Given the description of an element on the screen output the (x, y) to click on. 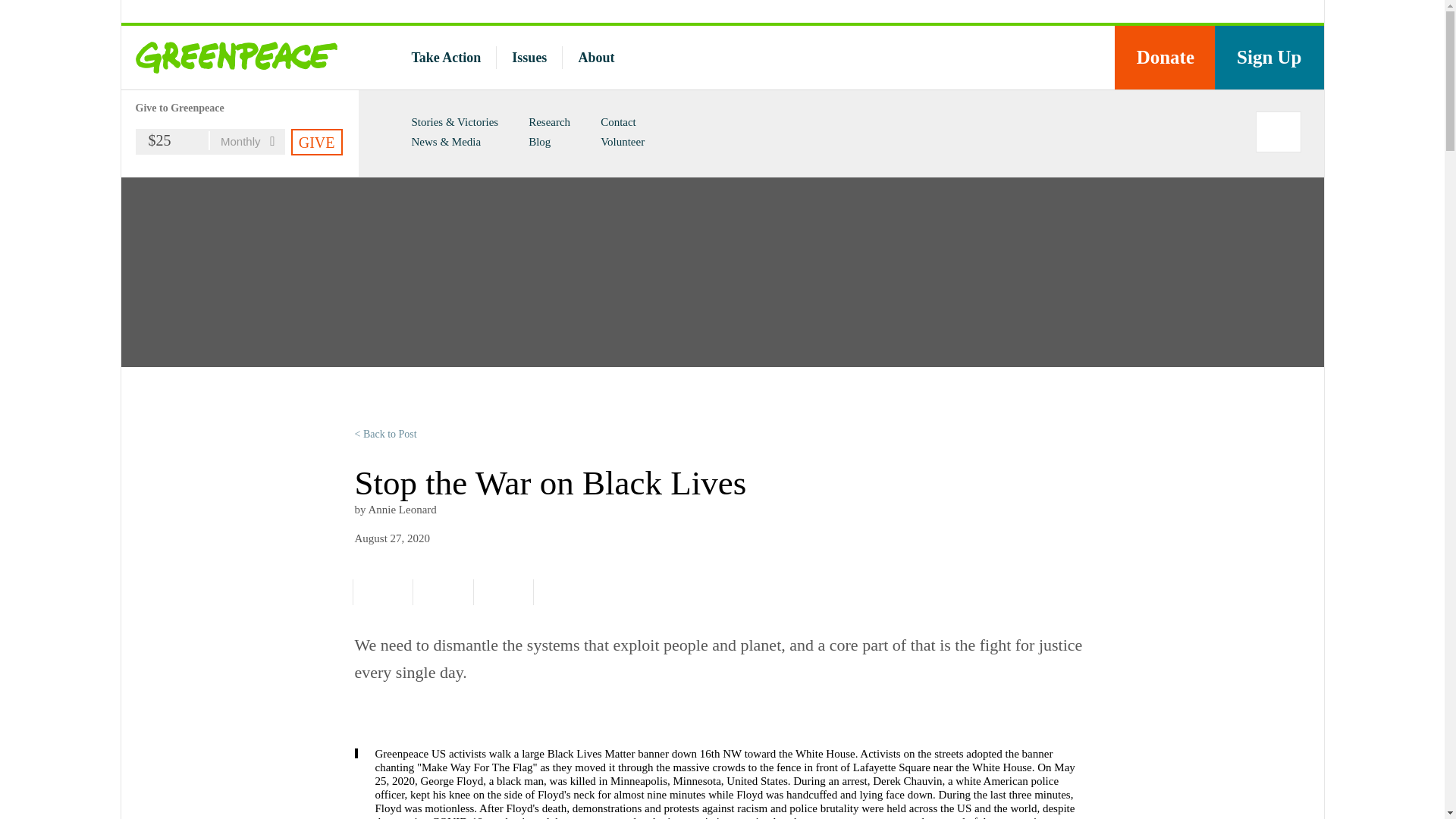
Blog (539, 141)
facebook (984, 57)
About (596, 57)
give (316, 141)
Instagram (1080, 57)
Research (549, 121)
Issues (529, 57)
Take Action (445, 57)
YouTube (1048, 57)
Greenpeace USA (239, 57)
Twitter (439, 592)
Twitter (1016, 57)
facebook (379, 592)
give (316, 141)
Email (500, 592)
